Given the description of an element on the screen output the (x, y) to click on. 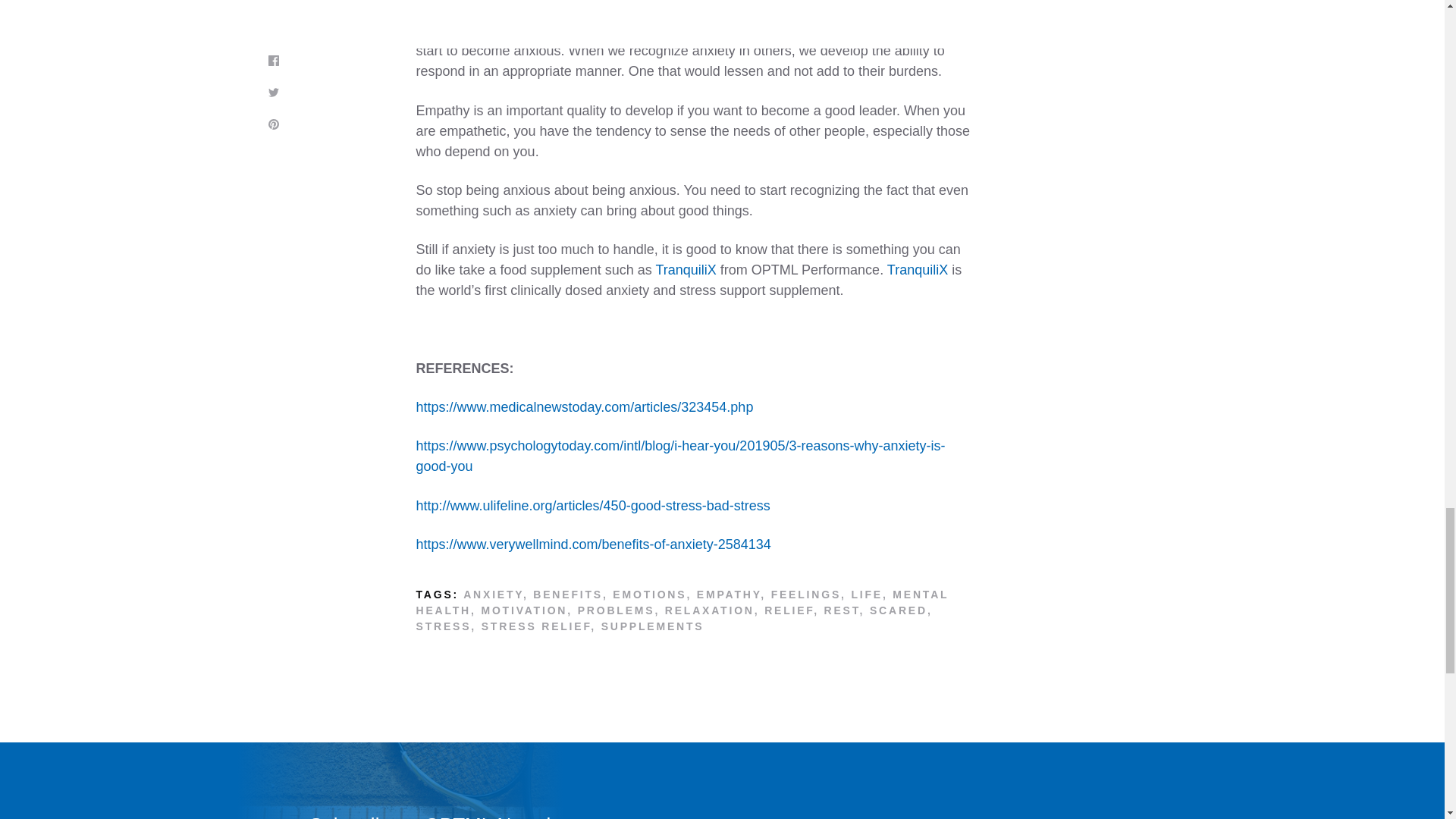
Show articles tagged emotions (648, 594)
Show articles tagged stress (442, 625)
Show articles tagged anxiety (492, 594)
The Benefits of Anxiety and Nervousness (592, 544)
Show articles tagged life (866, 594)
Show articles tagged problems (616, 610)
Show articles tagged relaxation (709, 610)
Show articles tagged scared (898, 610)
Show articles tagged mental health (681, 602)
3 Reasons Why Anxiety Is Good For You (679, 456)
Show articles tagged empathy (728, 594)
How do you tell the difference between good stress and bad? (592, 505)
Show articles tagged stress relief (536, 625)
Show articles tagged rest (842, 610)
Show articles tagged feelings (806, 594)
